Given the description of an element on the screen output the (x, y) to click on. 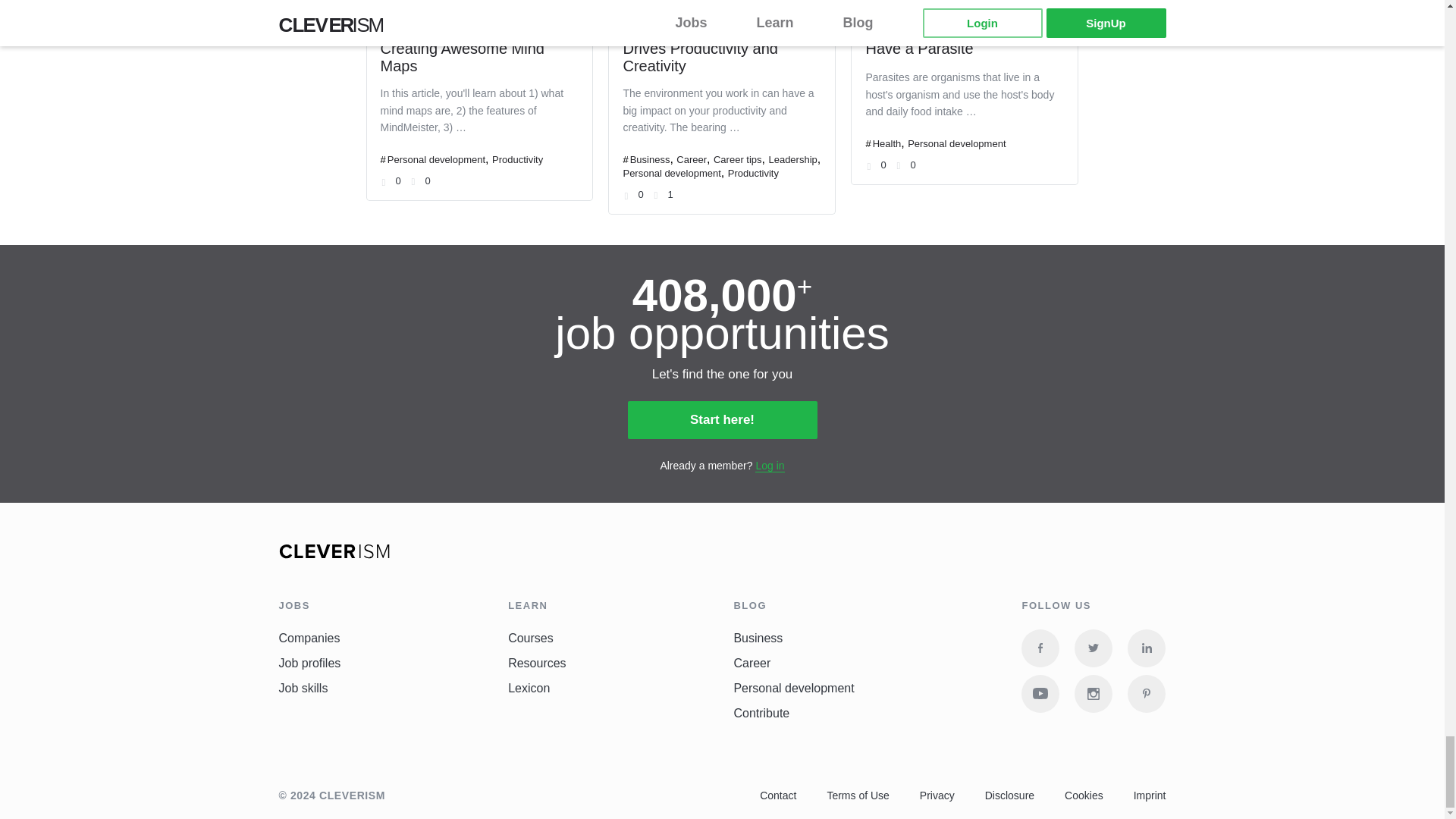
Career (691, 159)
Productivity (517, 159)
Using MindMeister for Creating Awesome Mind Maps (462, 48)
How a Clean-Desk Policy Drives Productivity and Creativity (708, 48)
Personal development (435, 159)
Career tips (737, 159)
Business (649, 159)
